Given the description of an element on the screen output the (x, y) to click on. 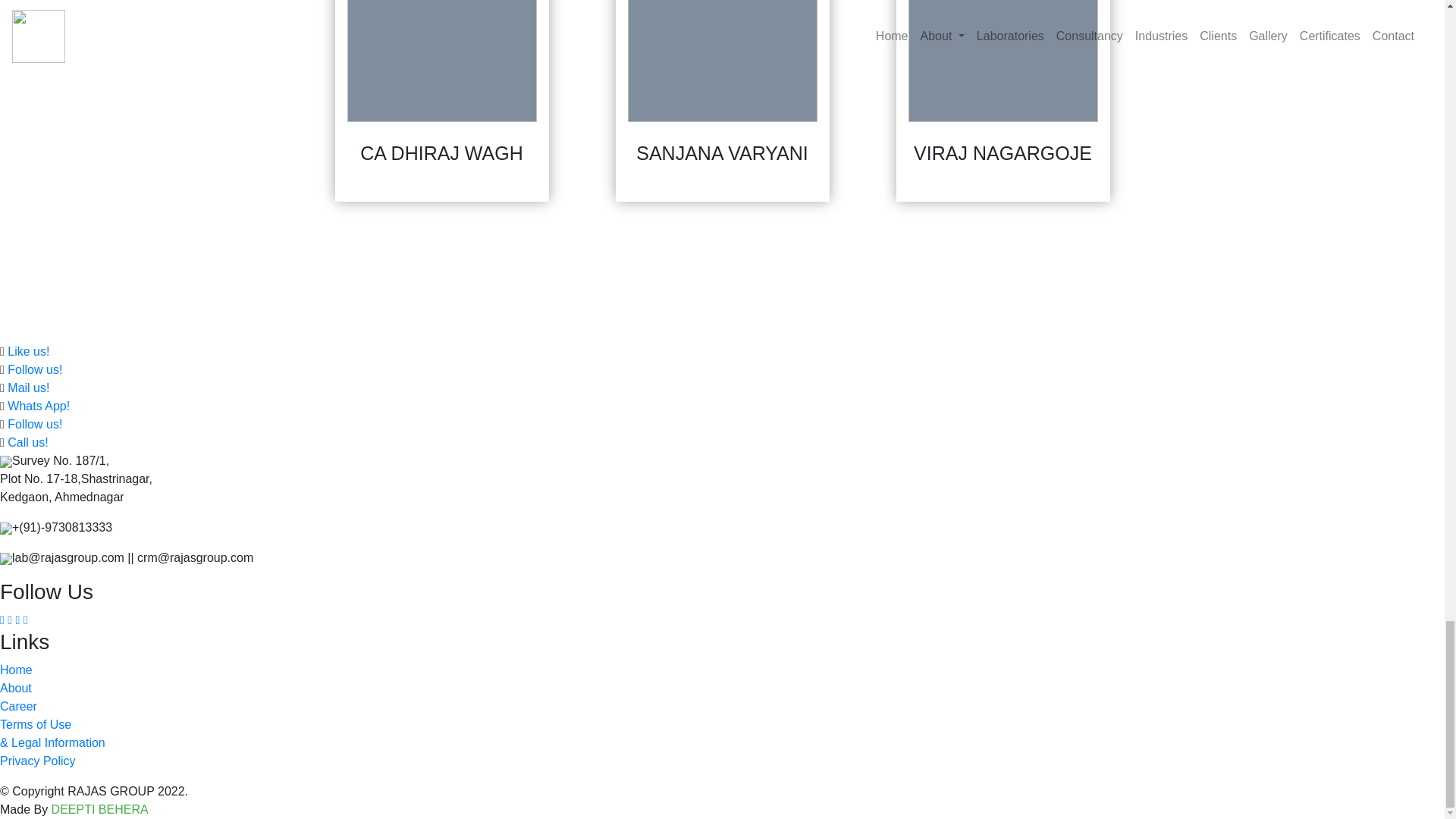
Follow us! (34, 369)
Like us! (28, 350)
About (16, 687)
Call us! (27, 441)
Privacy Policy (37, 760)
Whats App! (38, 405)
Career (18, 706)
Mail us! (28, 387)
Follow us! (34, 423)
Home (16, 669)
